Given the description of an element on the screen output the (x, y) to click on. 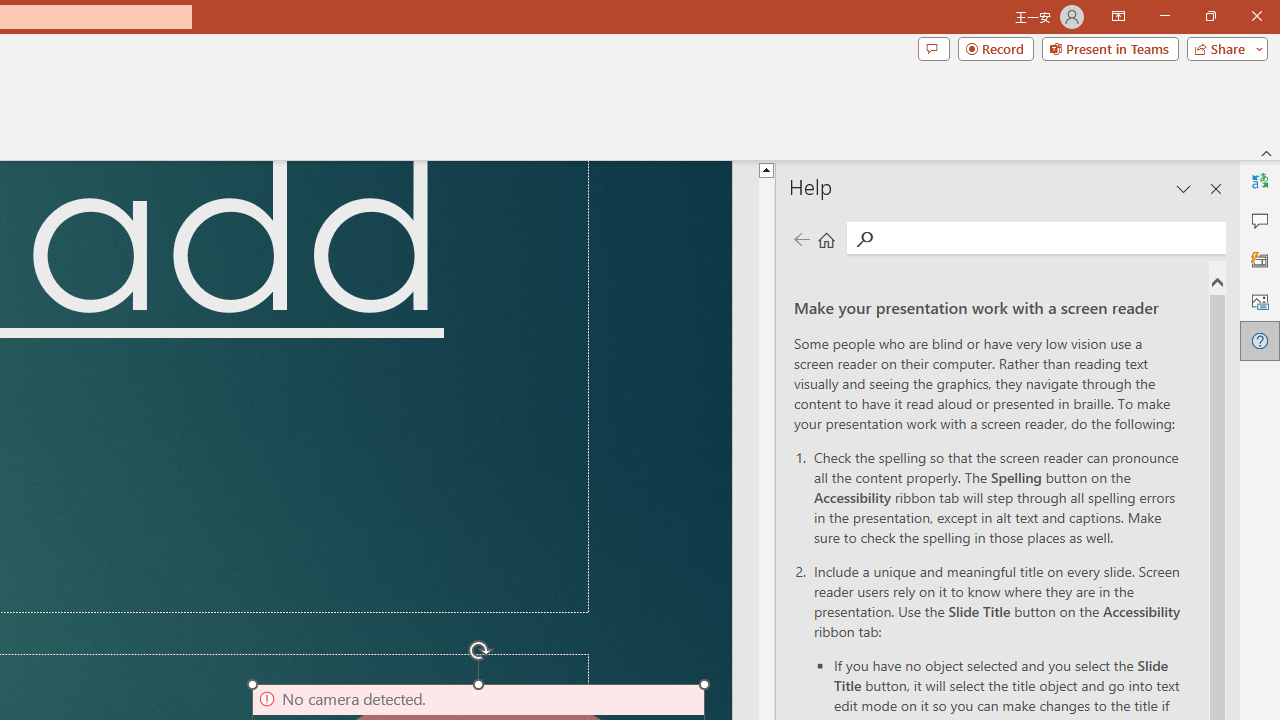
Previous page (801, 238)
